Given the description of an element on the screen output the (x, y) to click on. 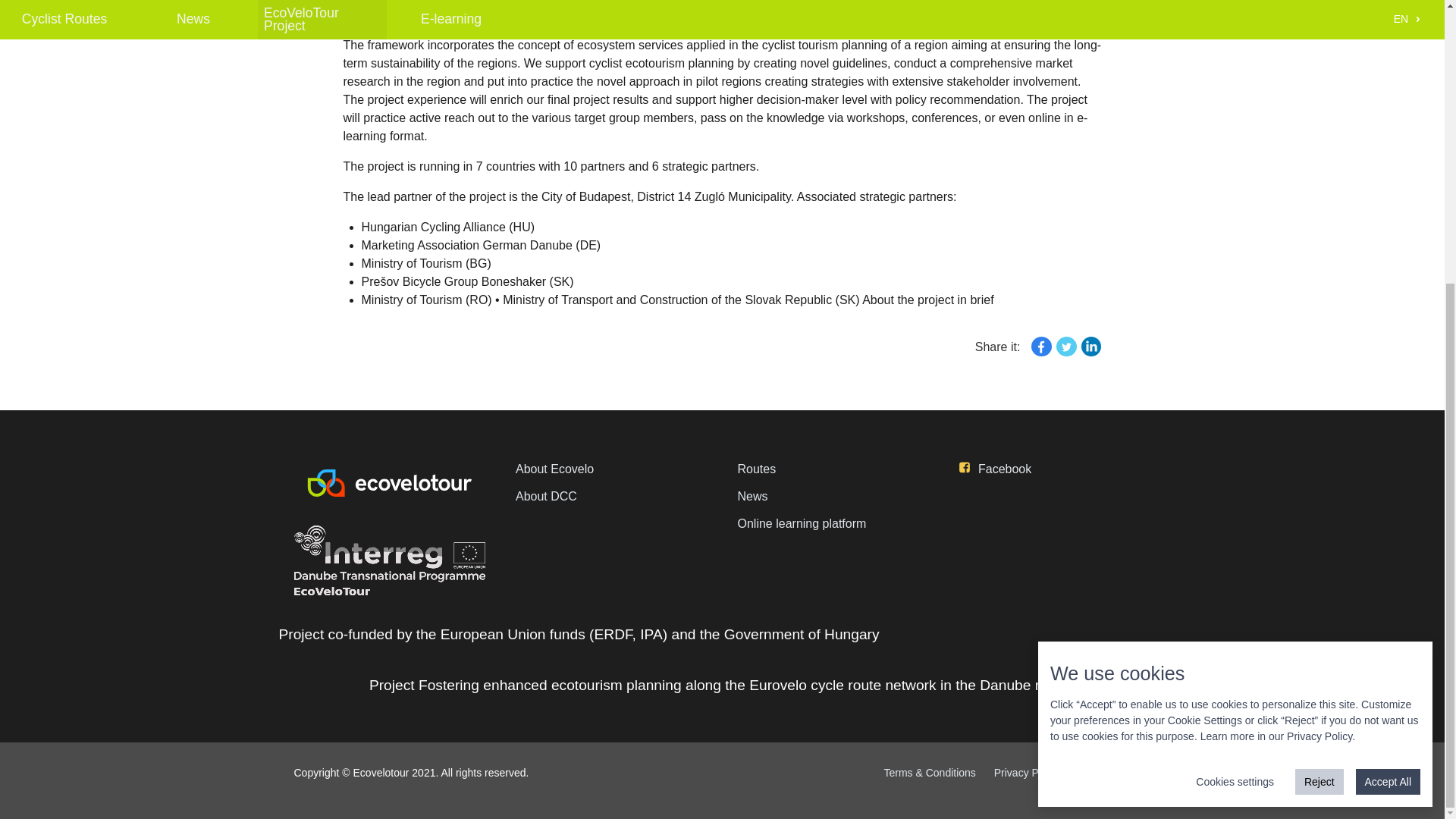
About Ecovelo (611, 469)
Facebook (1055, 469)
Privacy Policy (1319, 311)
Routes (832, 469)
About DCC (611, 496)
Privacy Policy (1026, 772)
Online learning platform (832, 523)
Cookie settings (1114, 772)
News (832, 496)
